Given the description of an element on the screen output the (x, y) to click on. 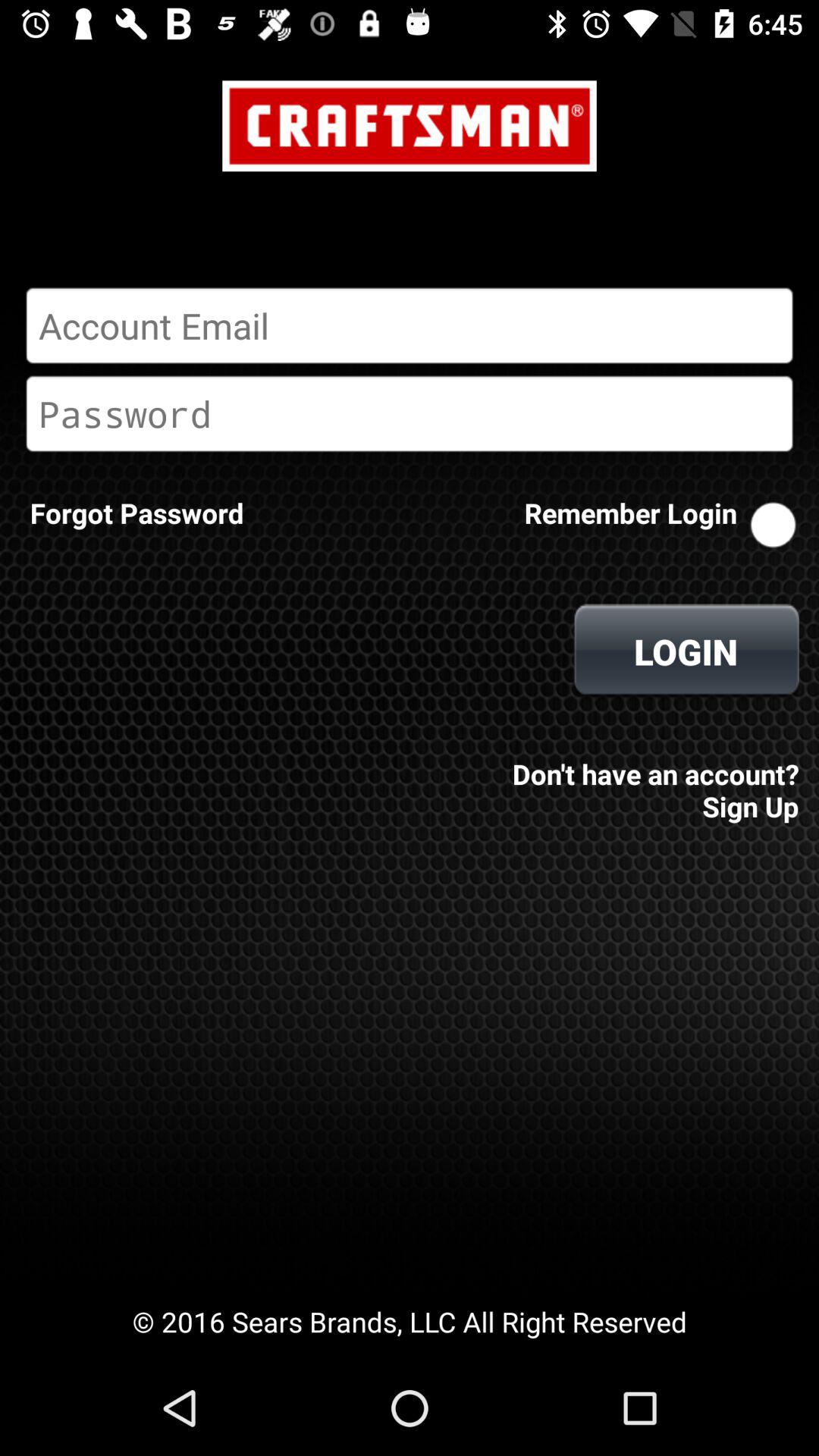
enter email (409, 325)
